Given the description of an element on the screen output the (x, y) to click on. 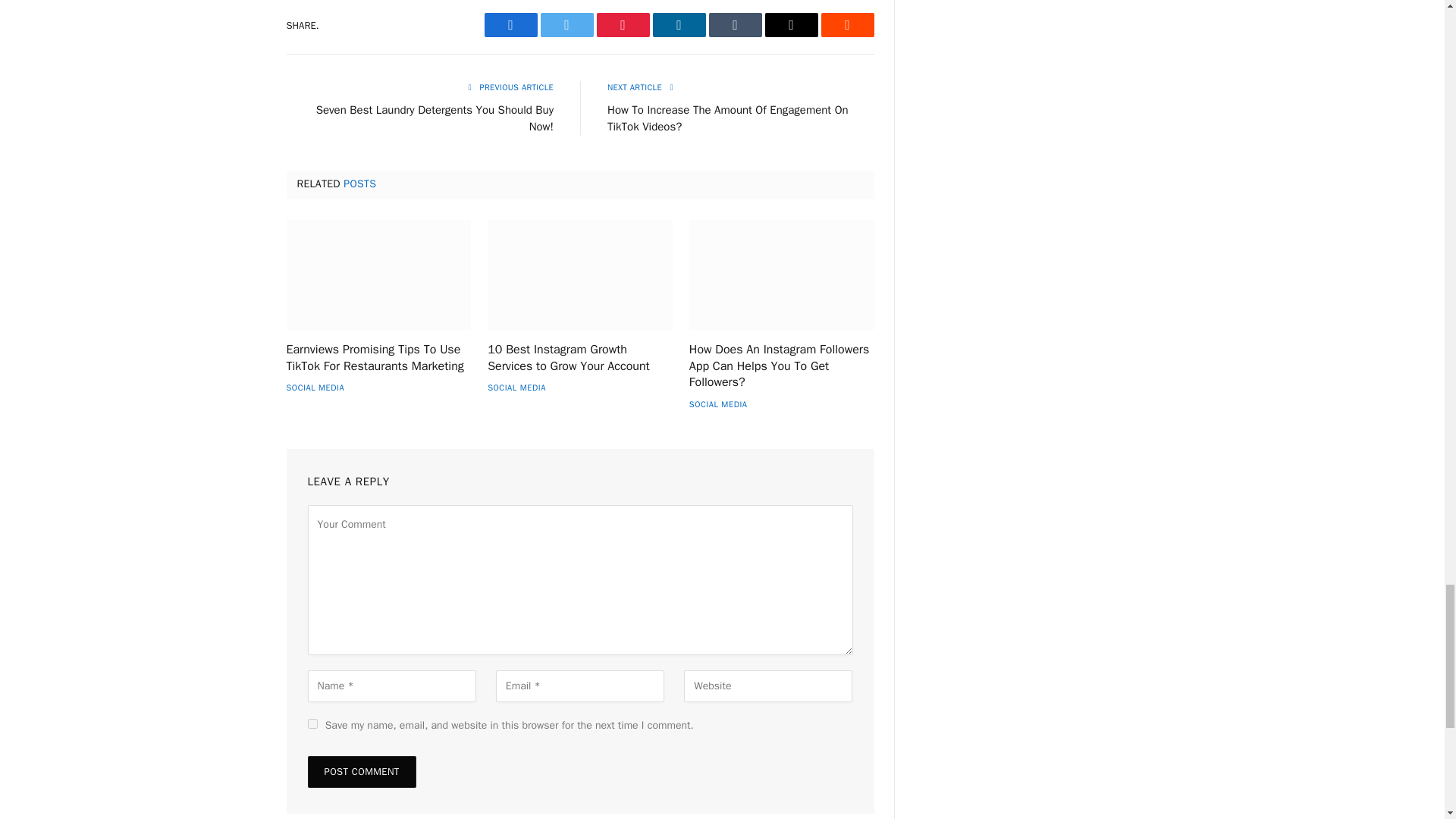
yes (312, 723)
Post Comment (361, 771)
